Given the description of an element on the screen output the (x, y) to click on. 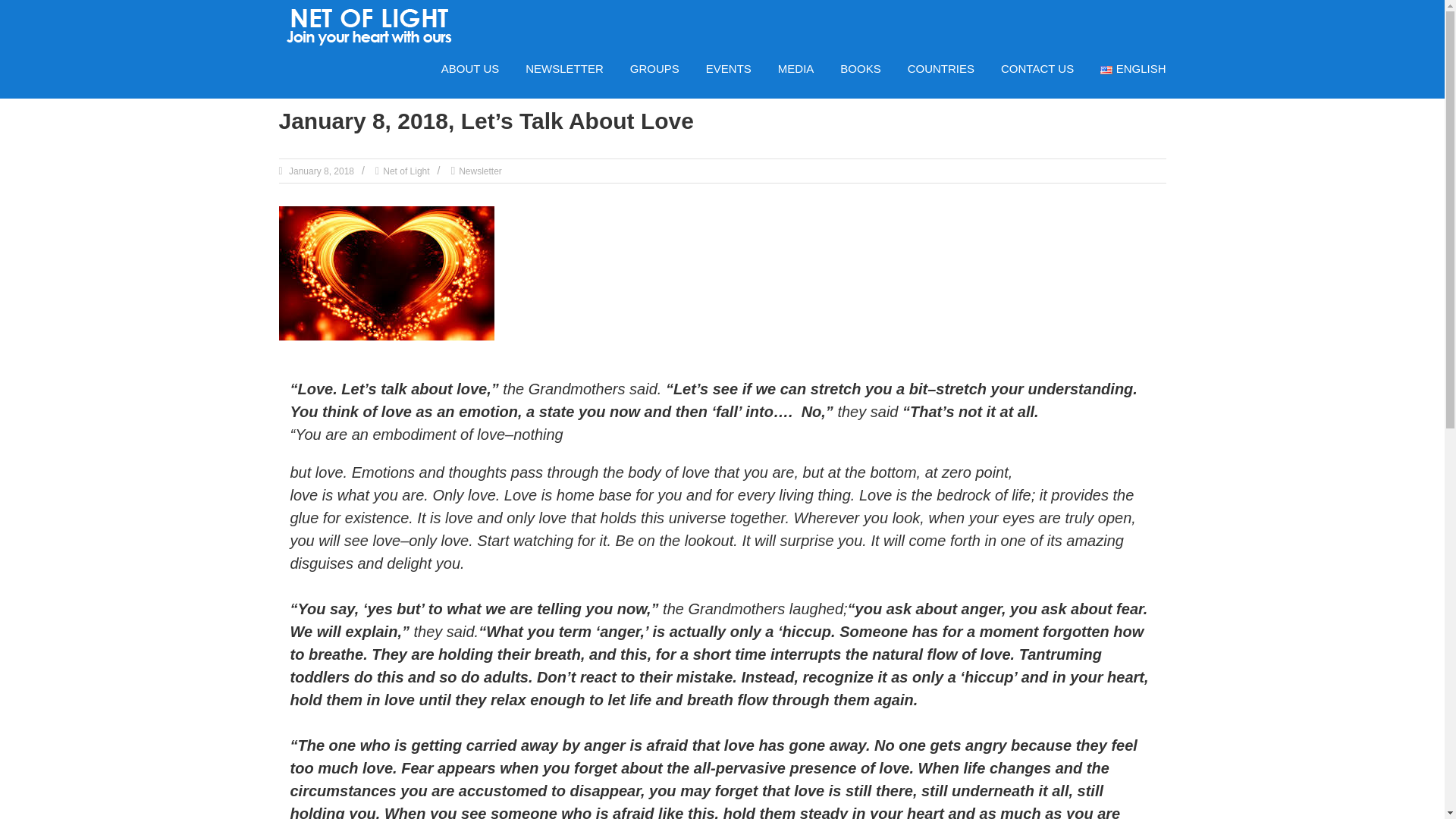
January 8, 2018 (319, 171)
Net of Light (405, 171)
EVENTS (728, 68)
Newsletter (480, 171)
Net of Light (405, 171)
NEWSLETTER (564, 68)
GROUPS (654, 68)
ENGLISH (1133, 68)
5:40 am (319, 171)
CONTACT US (1037, 68)
BOOKS (860, 68)
COUNTRIES (940, 68)
ABOUT US (470, 68)
